Given the description of an element on the screen output the (x, y) to click on. 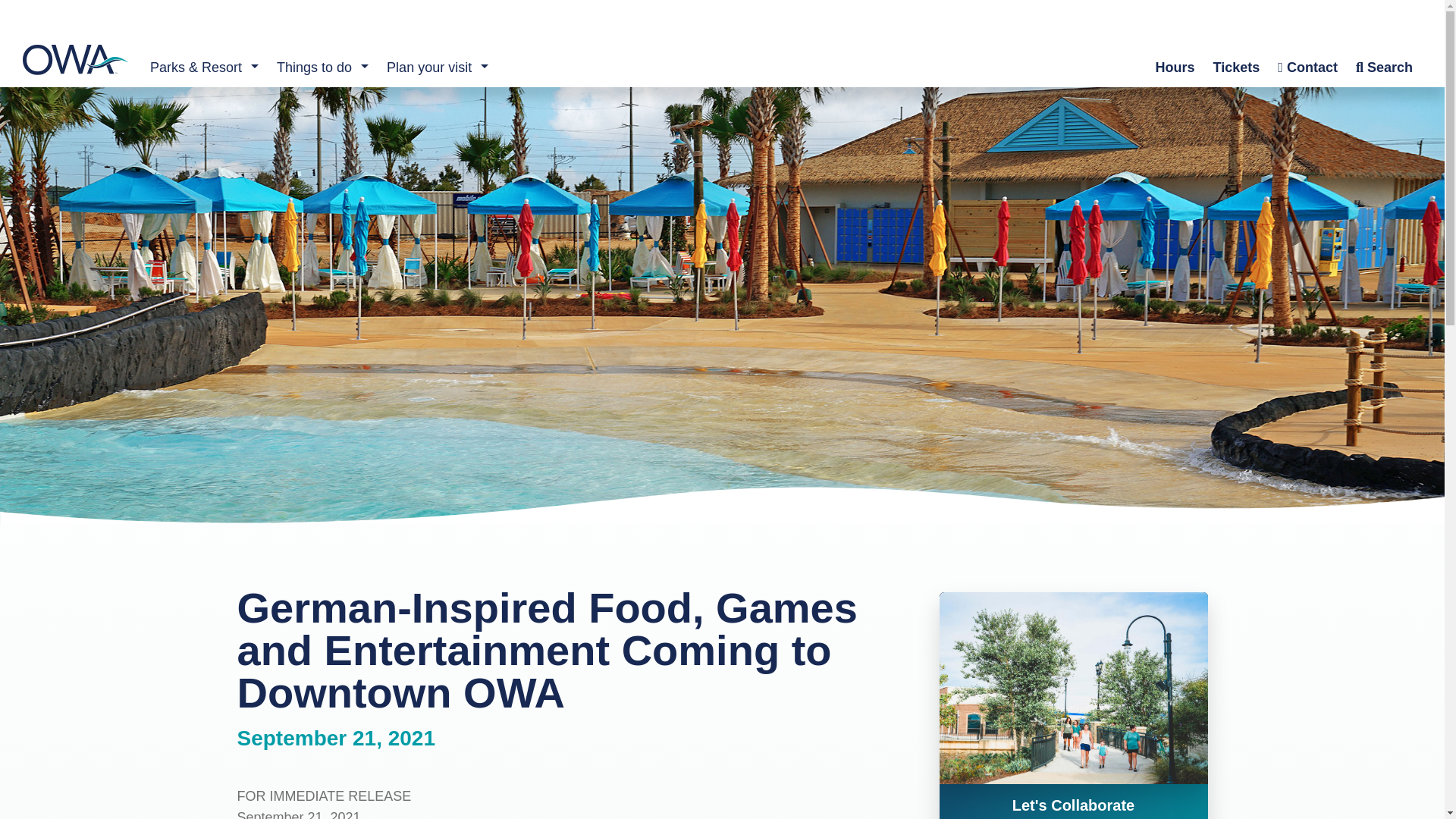
Plan your visit (424, 67)
Search (1384, 67)
Hours (1175, 67)
Things to do (309, 67)
Tickets (1236, 67)
Let's Collaborate (1073, 801)
Things to do (309, 67)
Plan your visit (424, 67)
Contact (1307, 67)
